Given the description of an element on the screen output the (x, y) to click on. 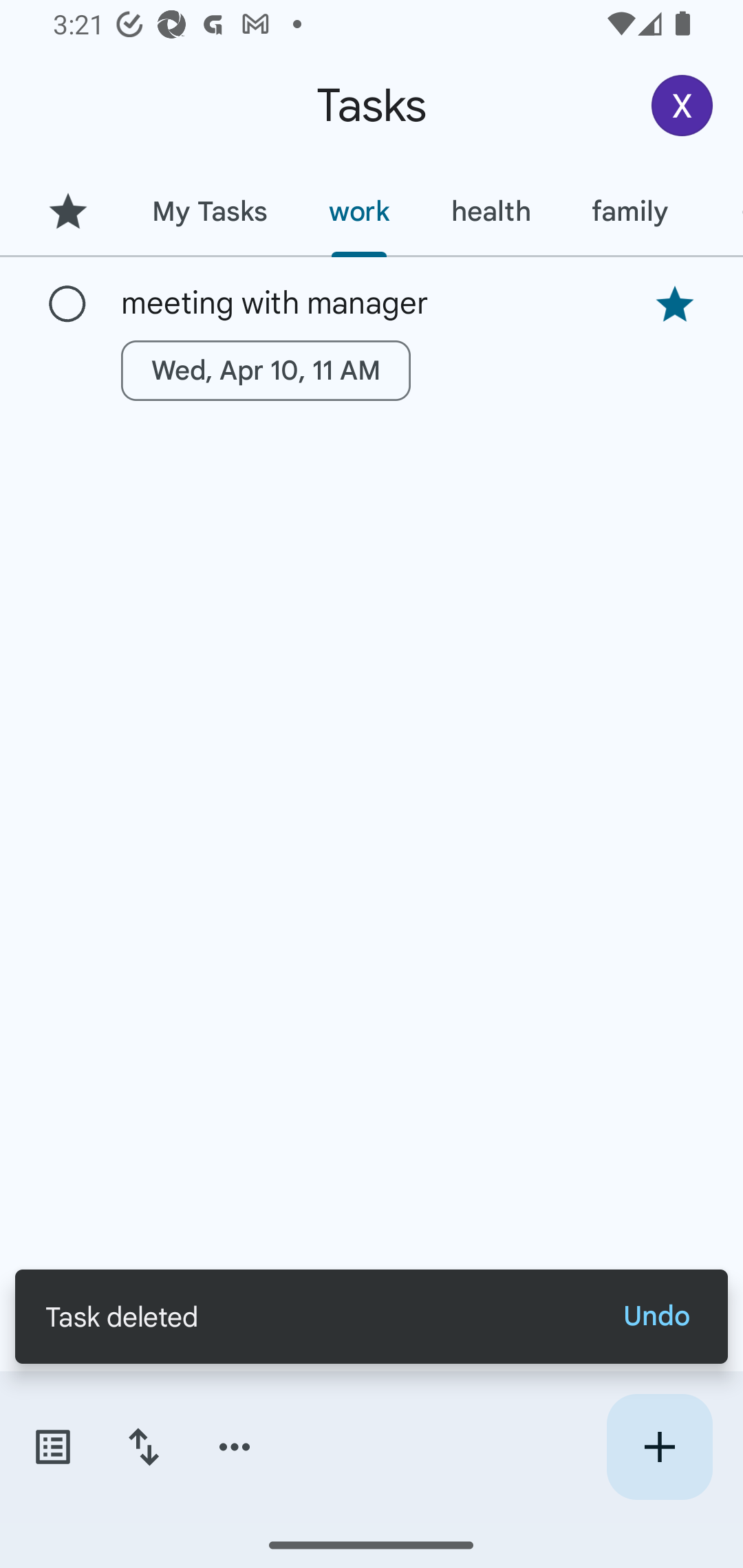
Starred (67, 211)
My Tasks (209, 211)
health (490, 211)
family (629, 211)
Remove star (674, 303)
Mark as complete (67, 304)
Wed, Apr 10, 11 AM (265, 369)
Undo (656, 1316)
Switch task lists (52, 1447)
Create new task (659, 1446)
Change sort order (143, 1446)
More options (234, 1446)
